Given the description of an element on the screen output the (x, y) to click on. 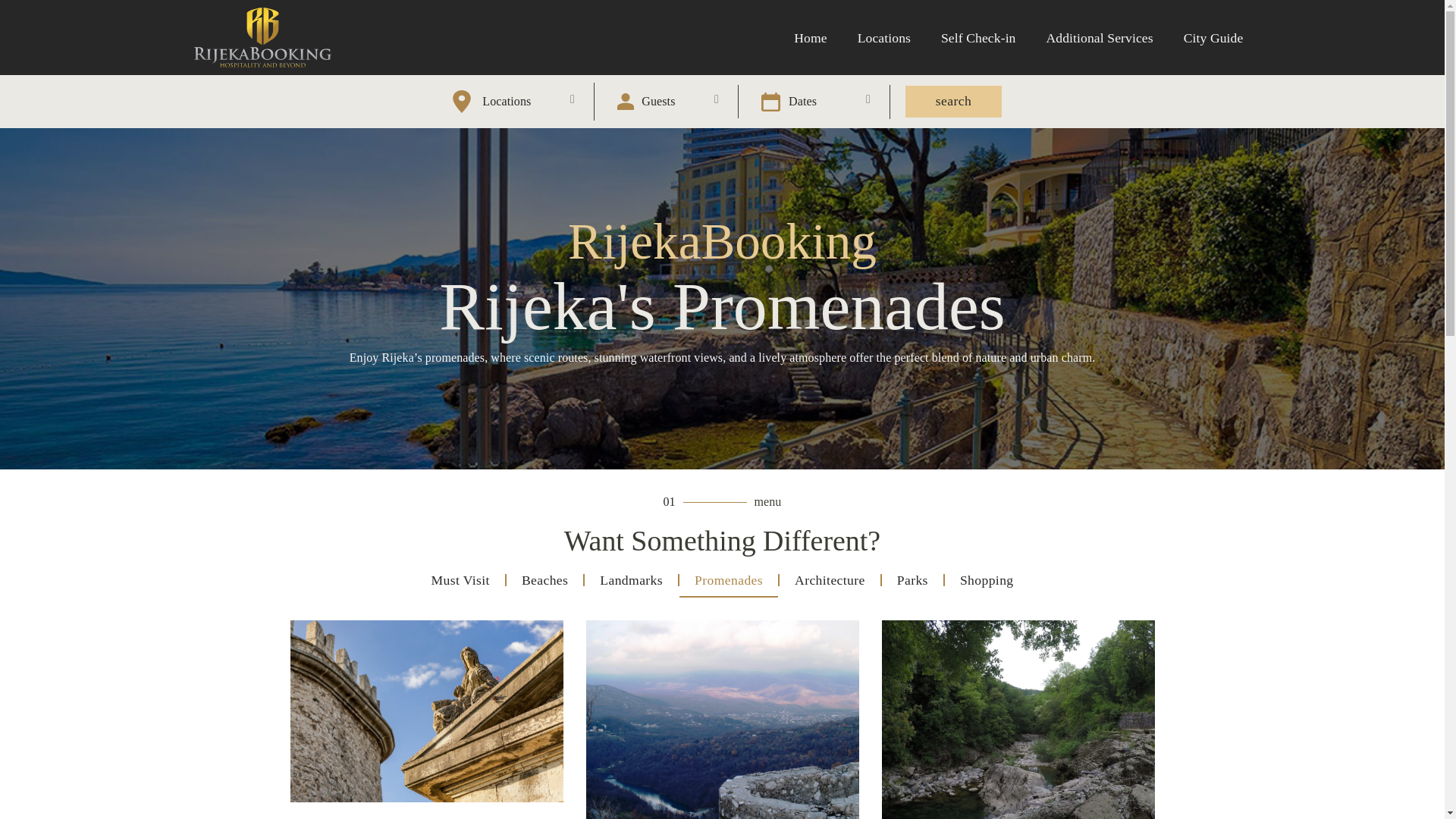
Self Check-in (978, 37)
Home (809, 37)
Landmarks (631, 579)
Locations (884, 37)
Shopping (986, 579)
search (953, 101)
Additional Services (1099, 37)
Must Visit (458, 579)
Parks (912, 579)
Beaches (544, 579)
